Given the description of an element on the screen output the (x, y) to click on. 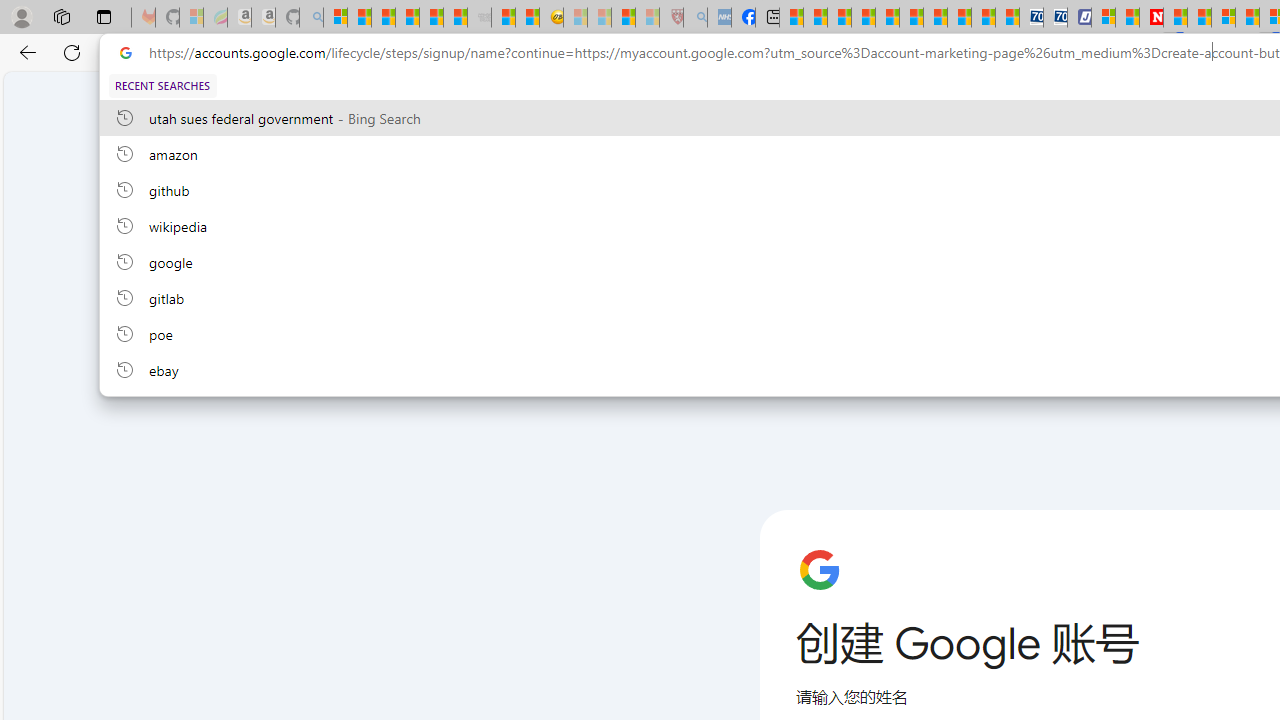
Cheap Hotels - Save70.com (1055, 17)
Cheap Car Rentals - Save70.com (1031, 17)
New Report Confirms 2023 Was Record Hot | Watch (430, 17)
Robert H. Shmerling, MD - Harvard Health - Sleeping (671, 17)
